Given the description of an element on the screen output the (x, y) to click on. 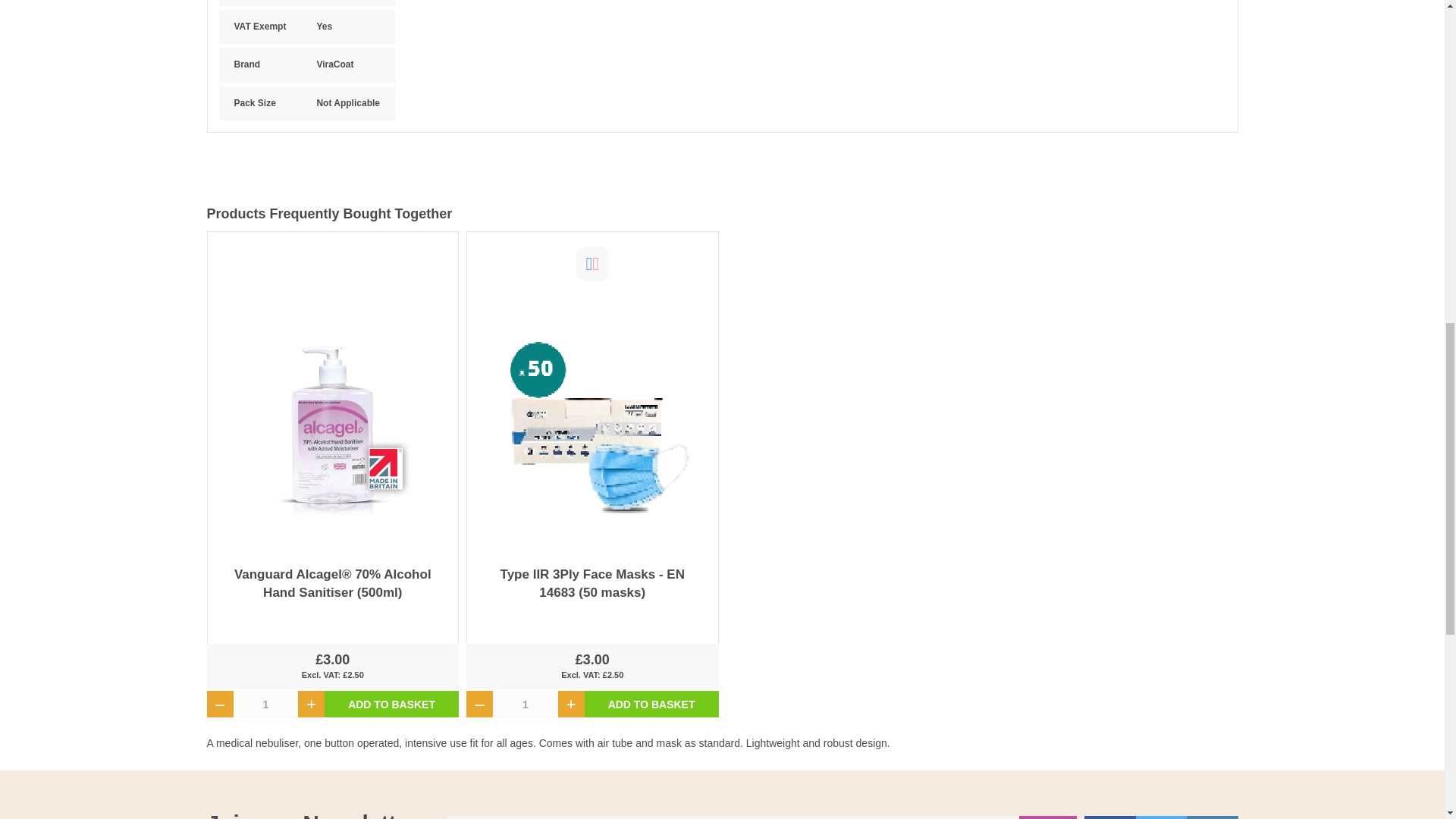
Qty (265, 705)
Add to Basket (391, 705)
1 (265, 705)
Qty (525, 705)
Add to Basket (652, 705)
1 (525, 705)
